Given the description of an element on the screen output the (x, y) to click on. 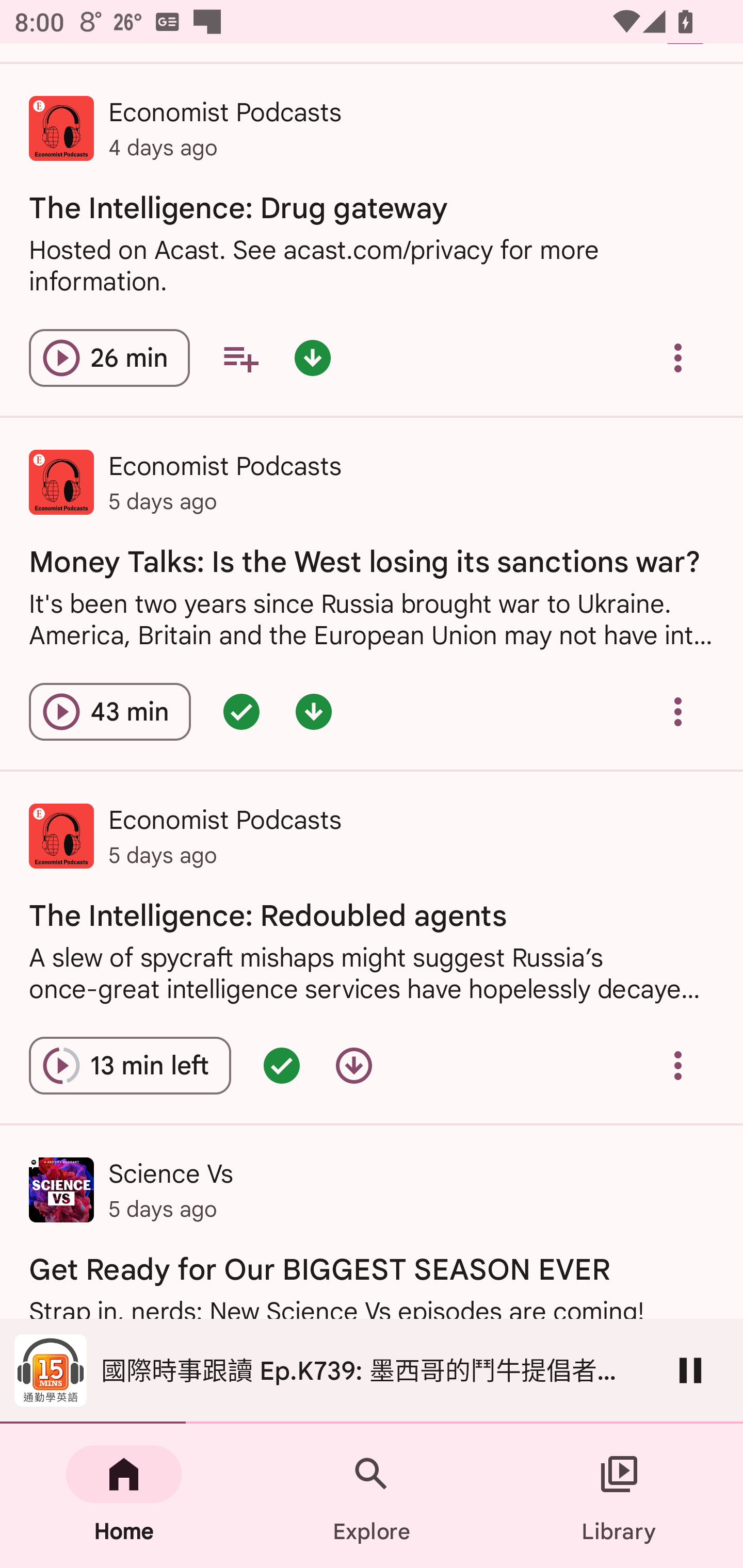
Play episode The Intelligence: Drug gateway 26 min (109, 358)
Add to your queue (240, 358)
Episode downloaded - double tap for options (312, 358)
Overflow menu (677, 358)
Episode queued - double tap for options (241, 711)
Episode downloaded - double tap for options (313, 711)
Overflow menu (677, 711)
Episode queued - double tap for options (281, 1065)
Download episode (354, 1065)
Overflow menu (677, 1065)
Pause (690, 1370)
Explore (371, 1495)
Library (619, 1495)
